Given the description of an element on the screen output the (x, y) to click on. 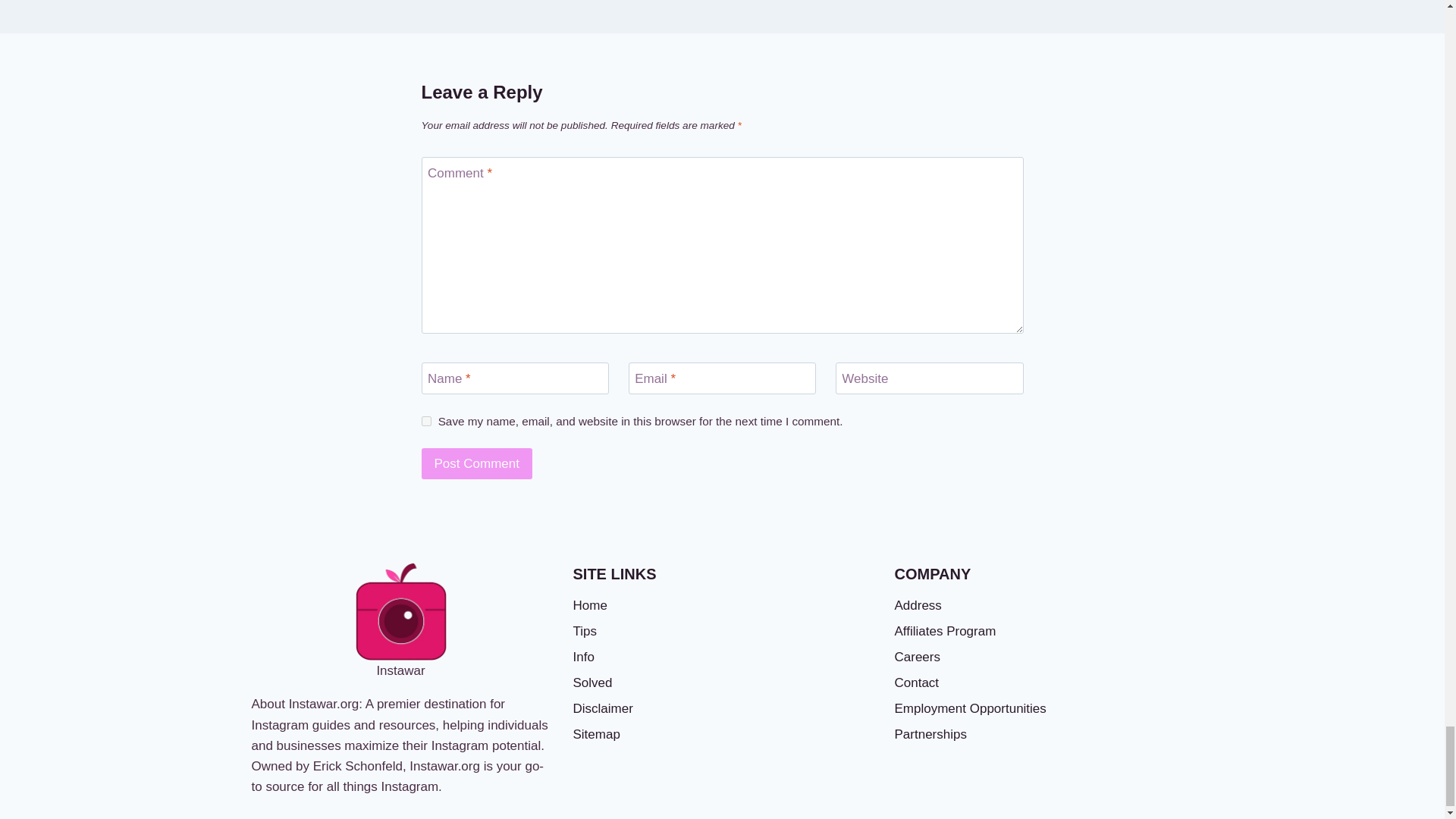
yes (426, 420)
Post Comment (477, 463)
